Given the description of an element on the screen output the (x, y) to click on. 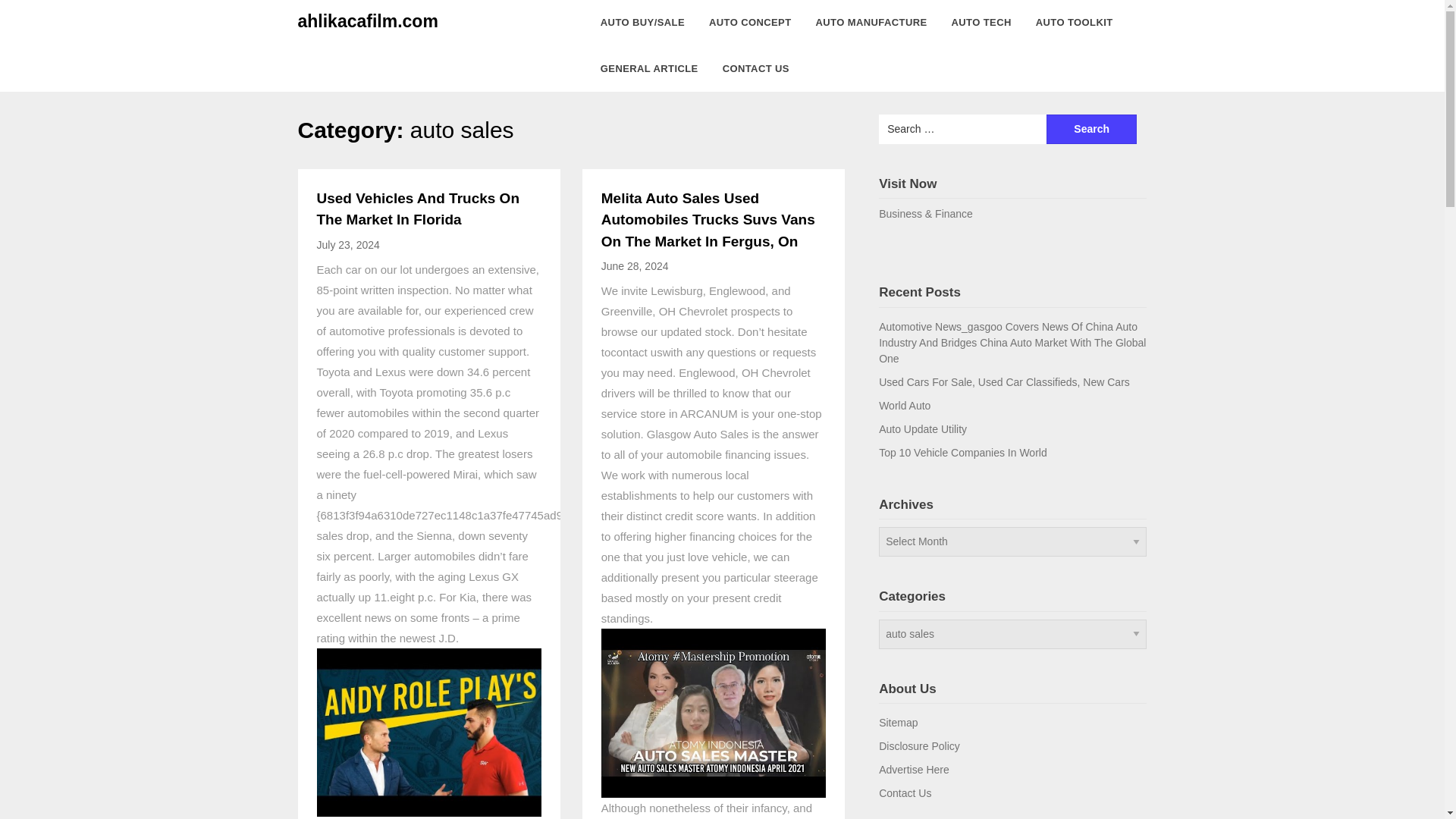
AUTO TECH (981, 22)
AUTO TOOLKIT (1074, 22)
CONTACT US (756, 67)
Used Vehicles And Trucks On The Market In Florida (418, 209)
Search (1091, 129)
Search (1091, 129)
GENERAL ARTICLE (649, 67)
ahlikacafilm.com (367, 21)
AUTO MANUFACTURE (871, 22)
